Given the description of an element on the screen output the (x, y) to click on. 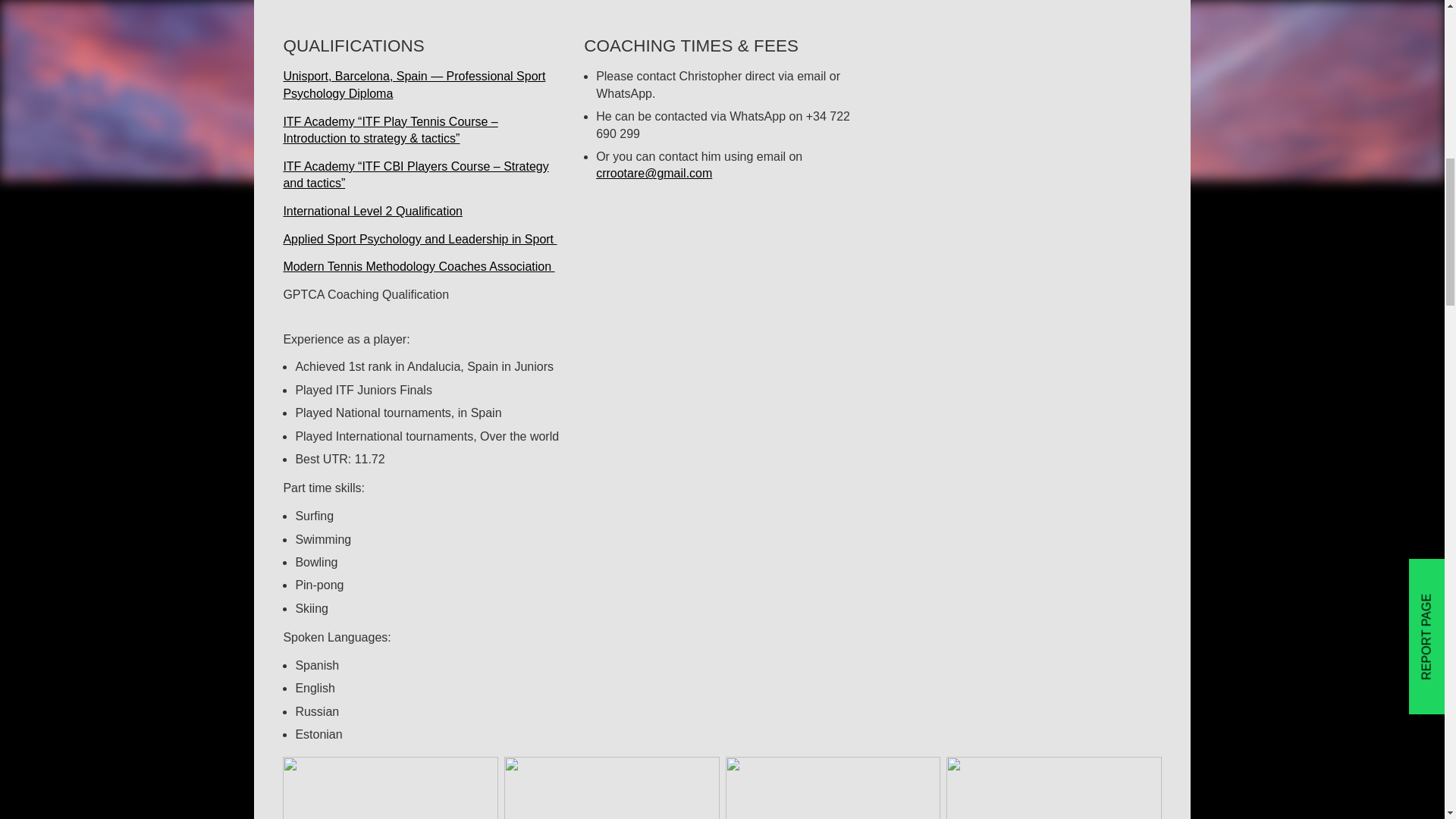
Modern Tennis Methodology Coaches Association  (418, 266)
Applied Sport Psychology and Leadership in Sport  (419, 238)
International Level 2 Qualification (372, 210)
